Given the description of an element on the screen output the (x, y) to click on. 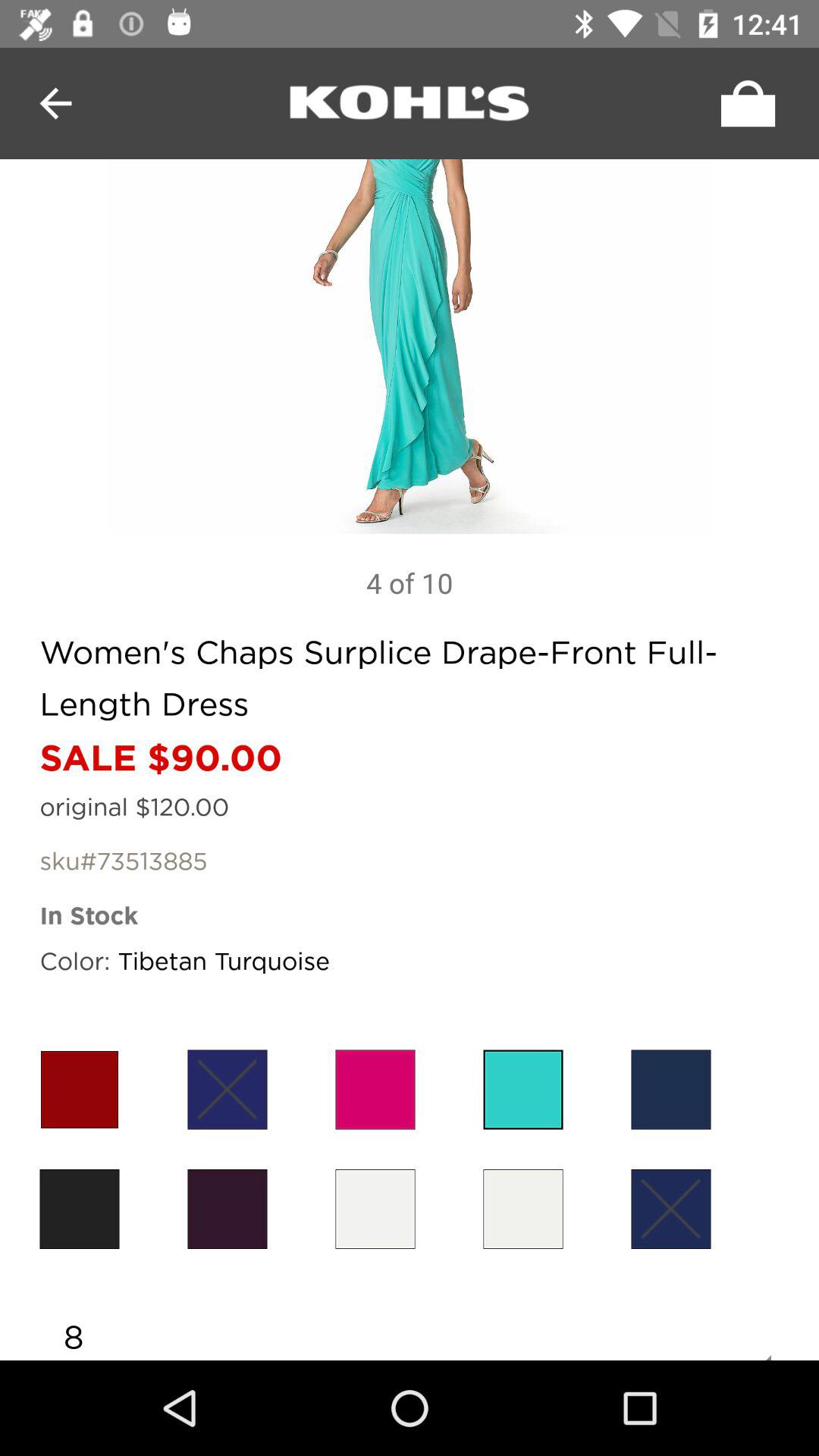
select the color bar (670, 1089)
